Given the description of an element on the screen output the (x, y) to click on. 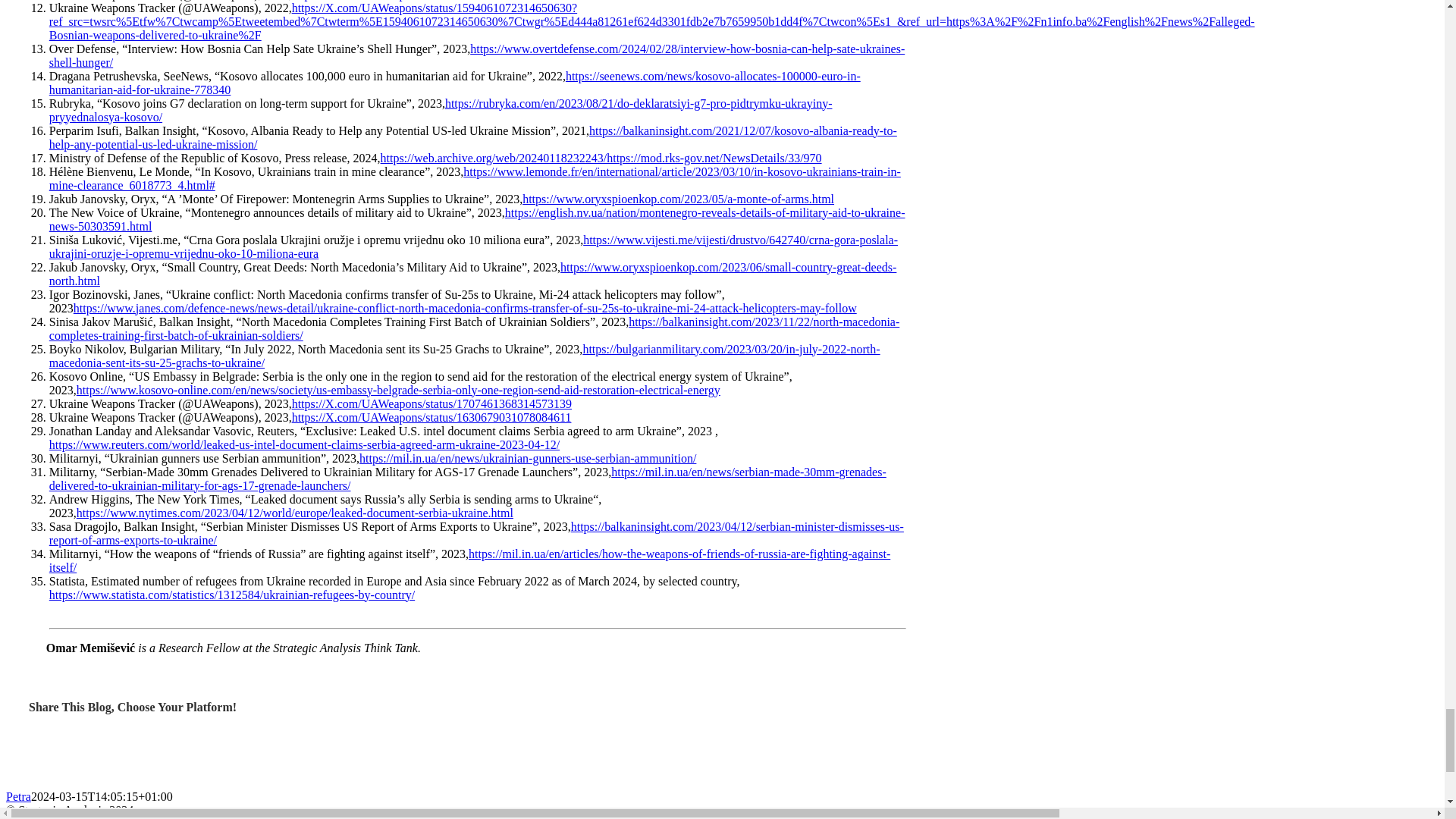
Twitter (69, 818)
Share This Blog, Choose Your Platform! (721, 745)
Facebook (28, 818)
Instagram (156, 818)
LinkedIn (109, 818)
